Given the description of an element on the screen output the (x, y) to click on. 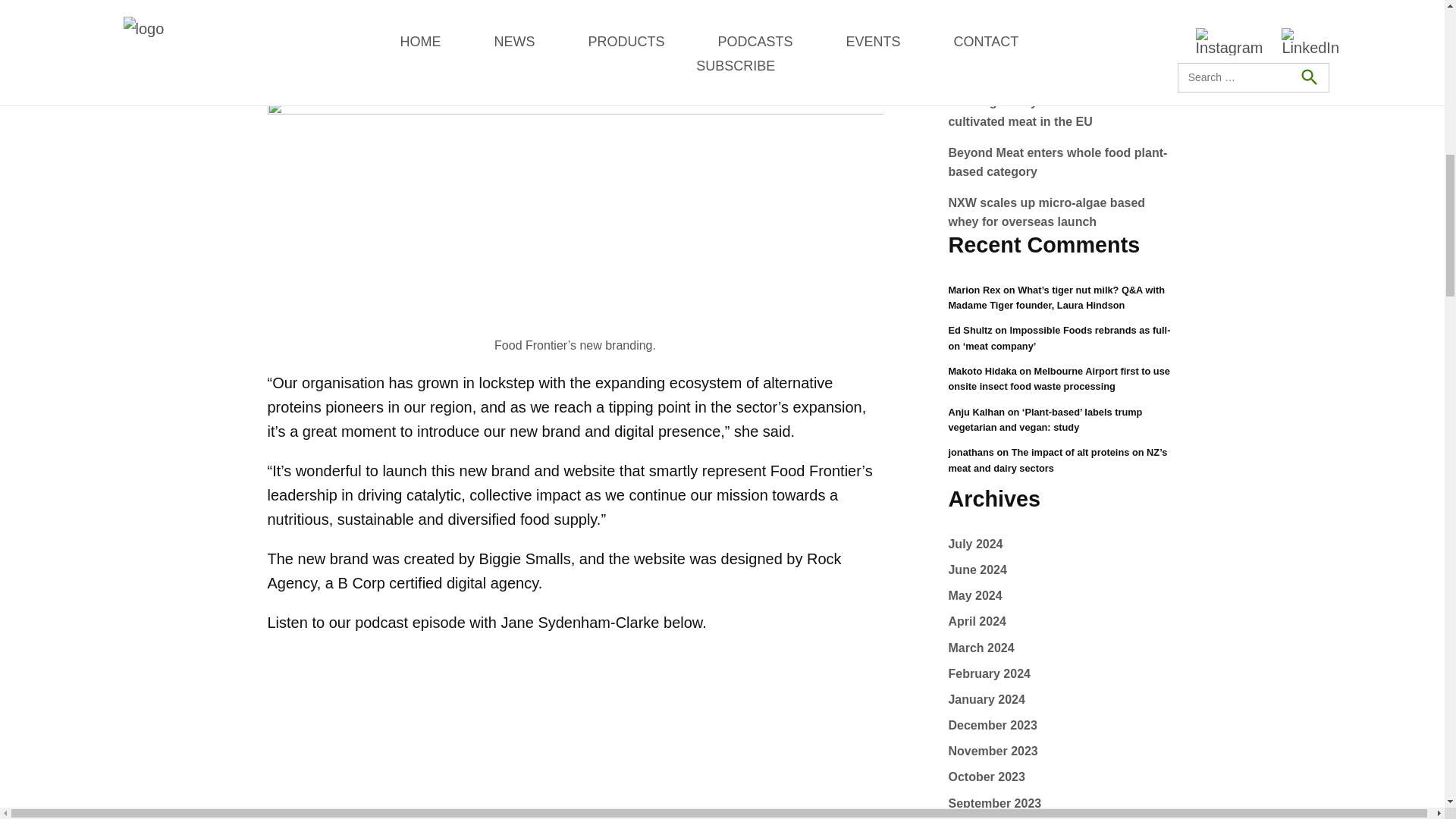
March 2024 (980, 673)
June 2024 (976, 594)
took over from founder Thomas King (645, 21)
Beyond Meat enters whole food plant-based category  (1057, 212)
July 2024 (975, 569)
August 2024 (983, 543)
February 2024 (988, 698)
jonathans (969, 451)
Plantein plant-based meat range launches in Woolworths  (1040, 111)
